Given the description of an element on the screen output the (x, y) to click on. 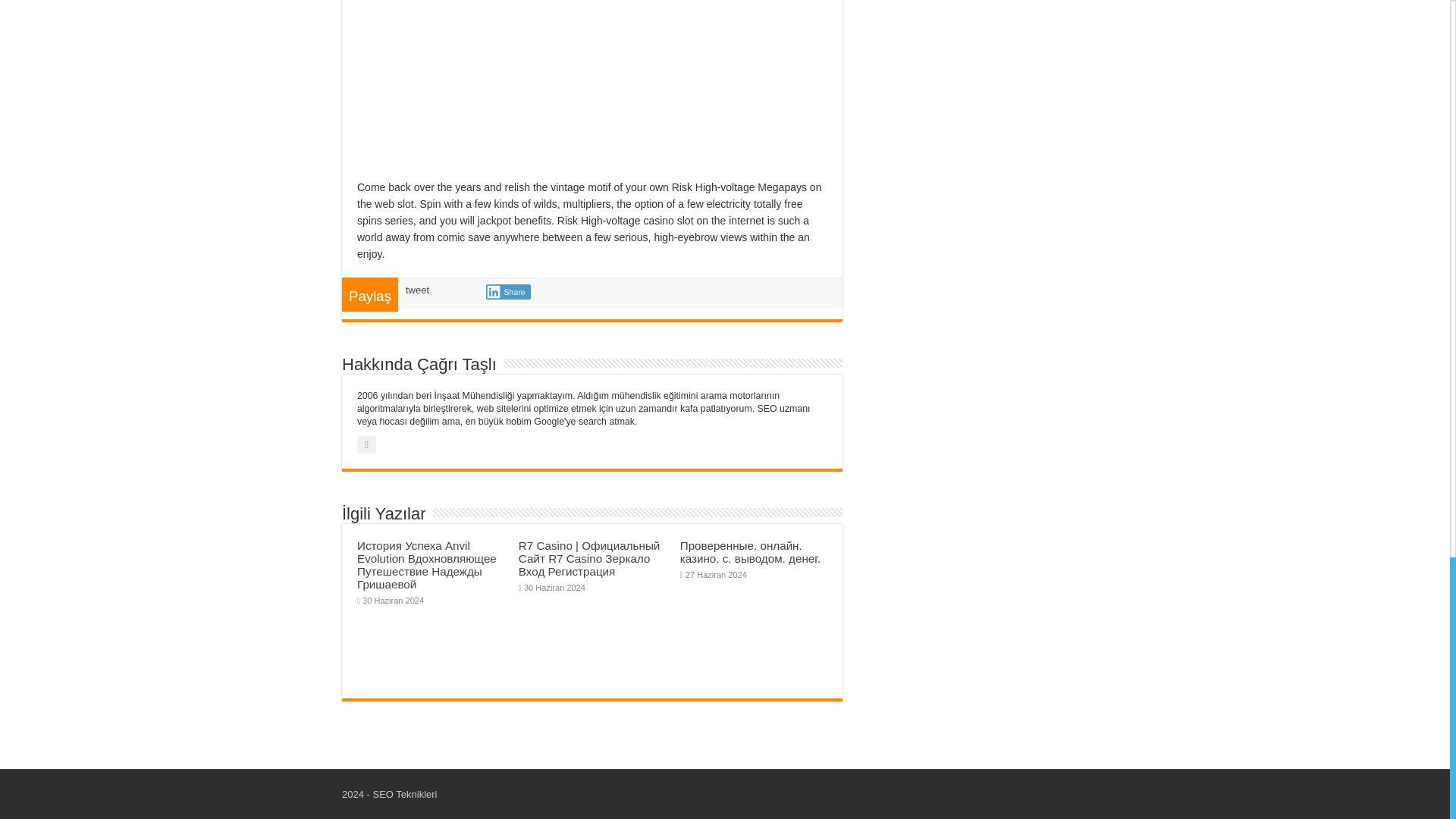
Share (508, 291)
tweet (417, 289)
